Given the description of an element on the screen output the (x, y) to click on. 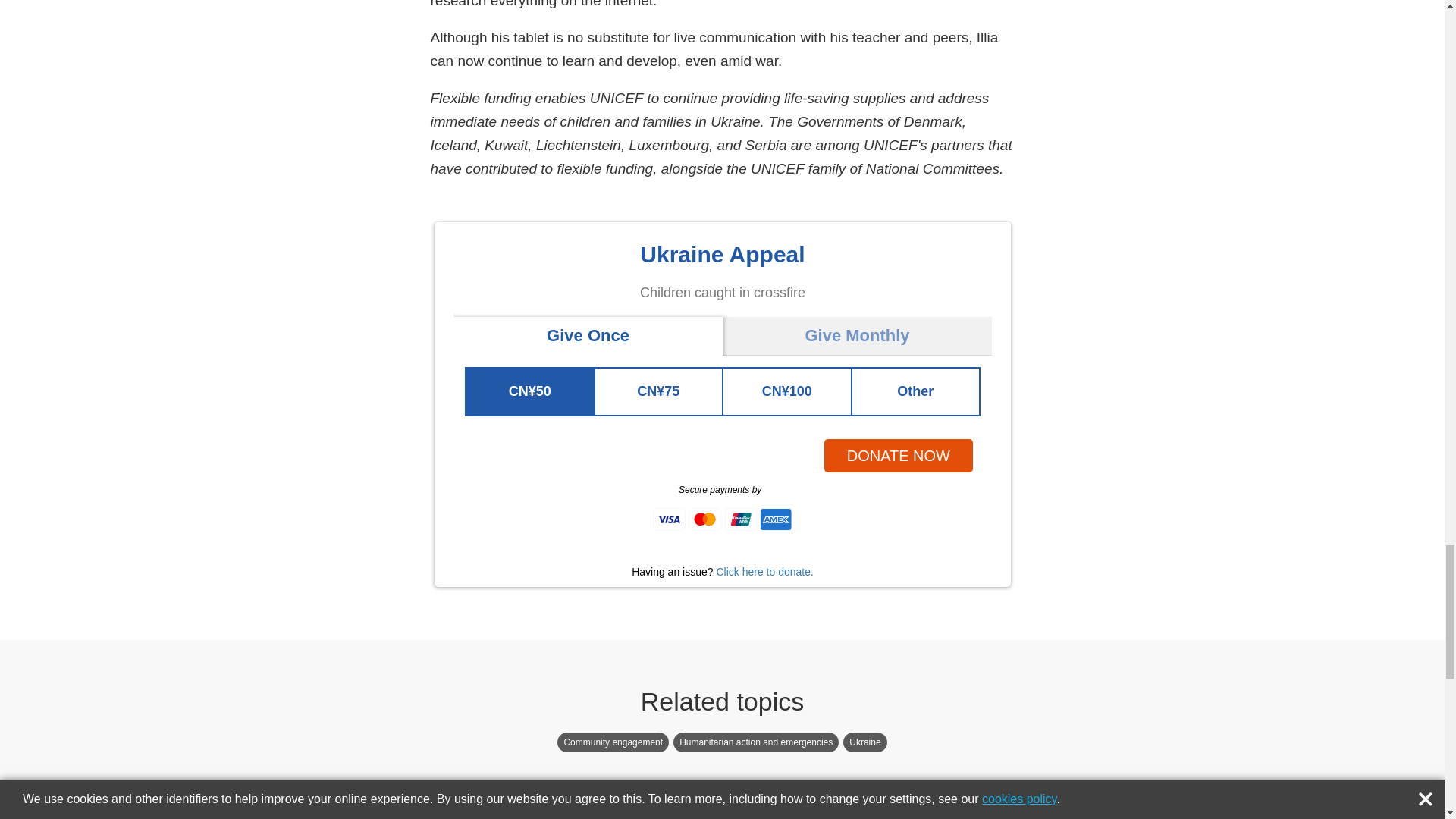
Humanitarian action and emergencies (755, 742)
Ukraine (864, 742)
Community engagement (612, 742)
